Given the description of an element on the screen output the (x, y) to click on. 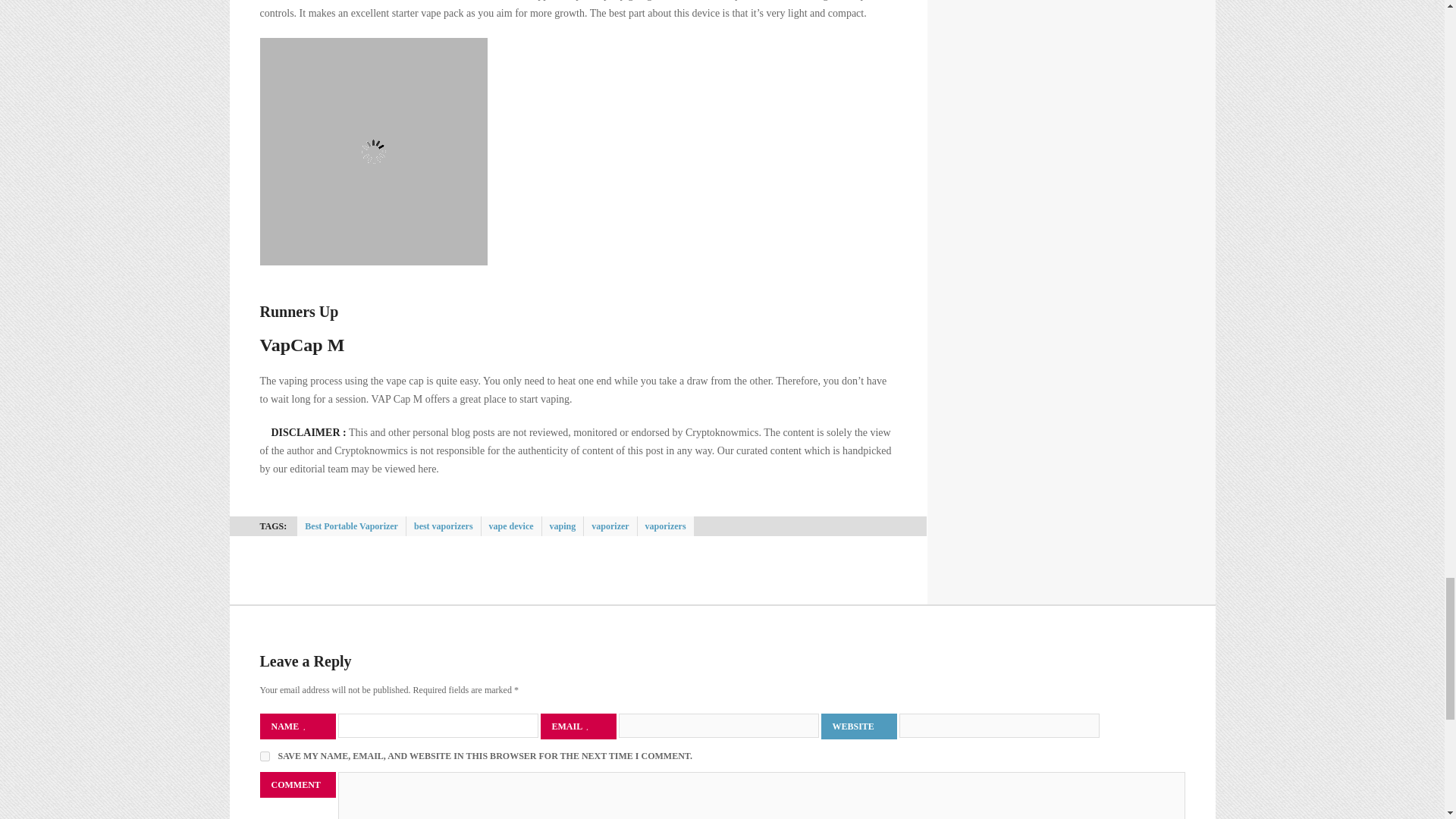
yes (264, 756)
